Given the description of an element on the screen output the (x, y) to click on. 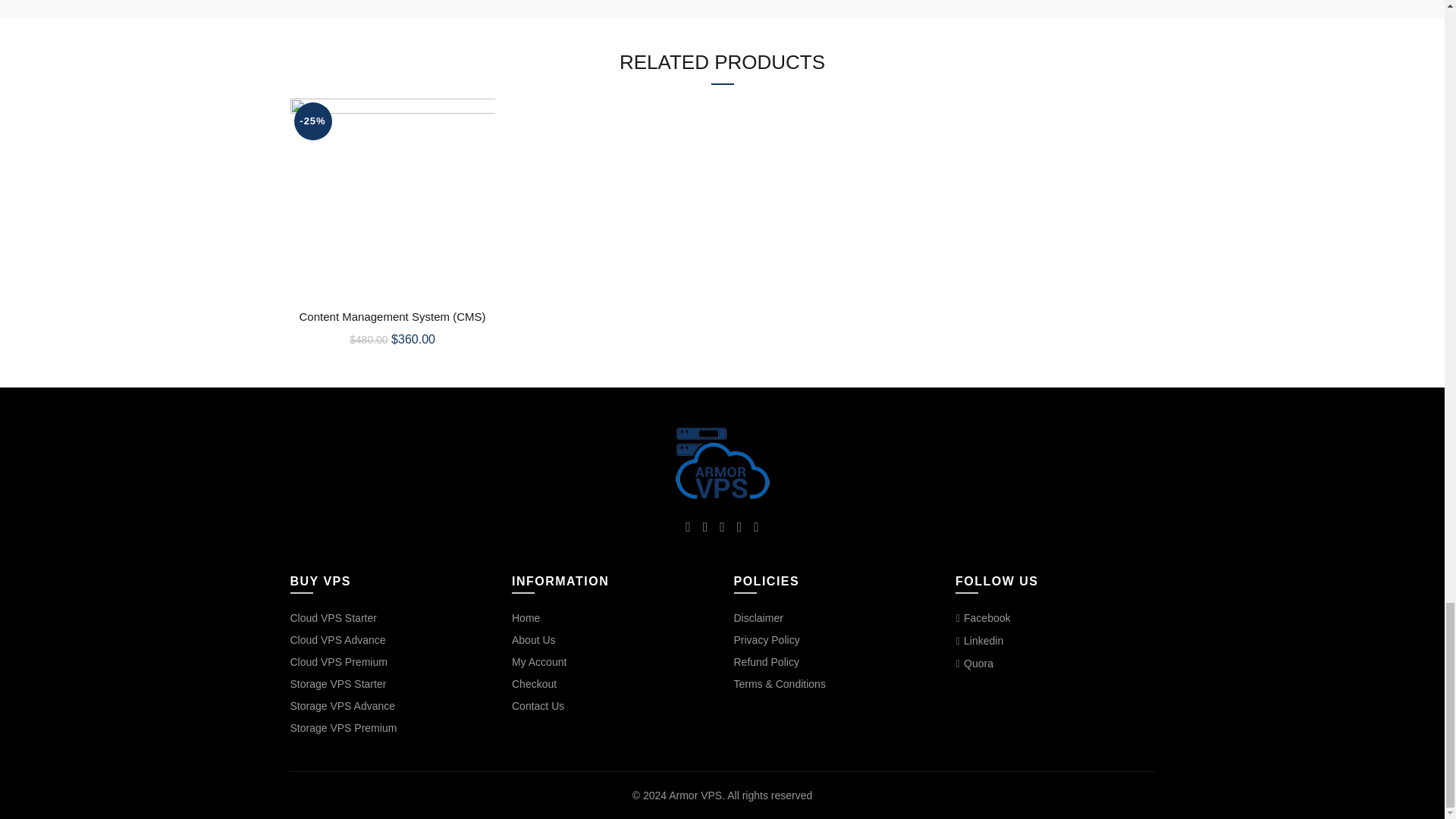
Armor VPS (721, 463)
